Given the description of an element on the screen output the (x, y) to click on. 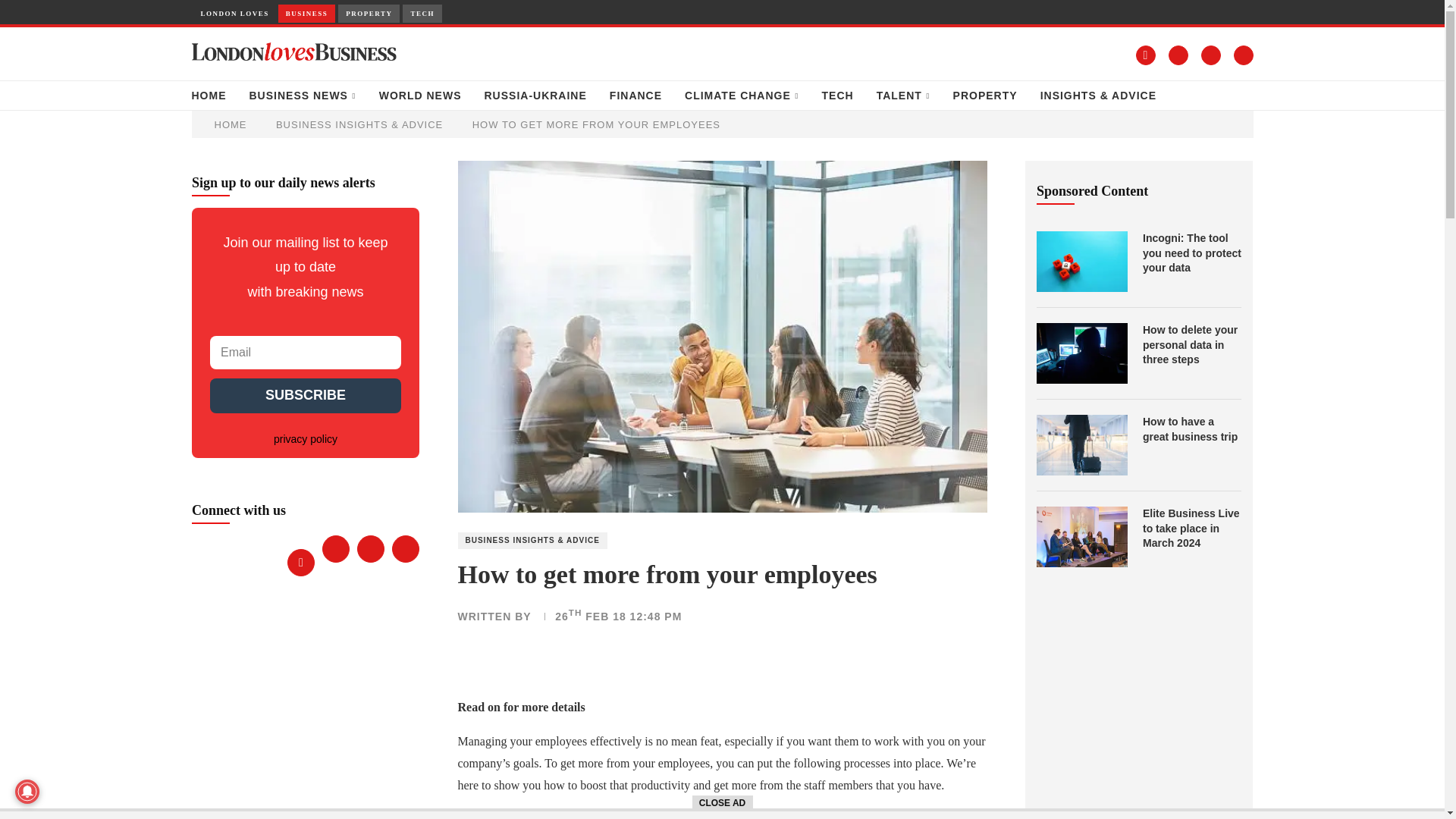
How to have a great business trip (1191, 429)
How to delete your personal data in three steps (1191, 344)
How to have a great business trip (1081, 444)
Elite Business Live to take place in March 2024 (1081, 536)
How to delete your personal data in three steps (1081, 353)
Incogni: The tool you need to protect your data (1081, 260)
Elite Business Live to take place in March 2024 (1191, 528)
Incogni: The tool you need to protect your data (1191, 253)
